Given the description of an element on the screen output the (x, y) to click on. 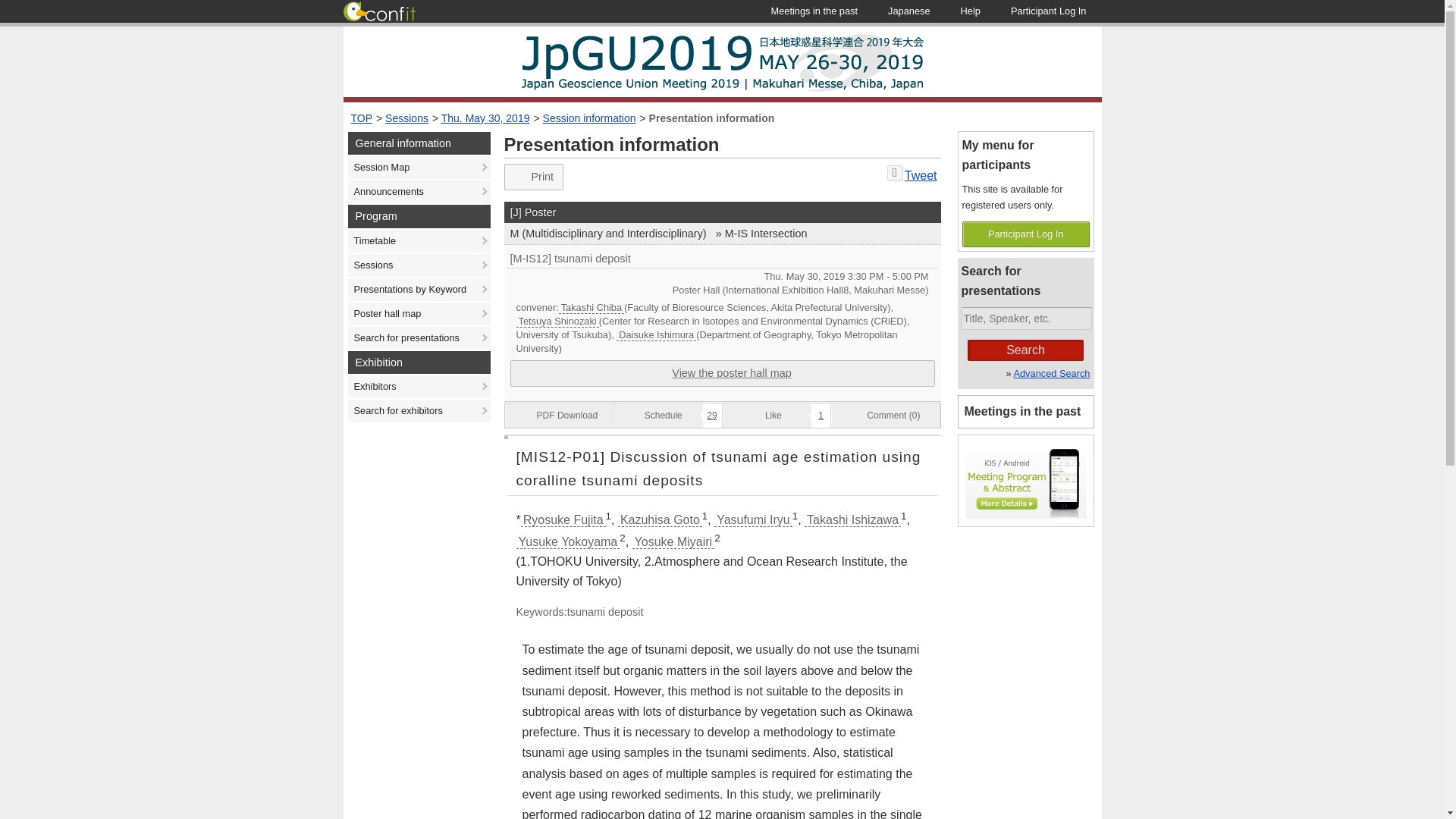
Presentation information (711, 118)
Session information (589, 118)
Yusuke Yokoyama (567, 541)
Kazuhisa Goto (659, 519)
Search for presentations (418, 337)
Tweet (920, 174)
Search for exhibitors (418, 410)
Add to or remove from my schedule (667, 415)
Share by mail (894, 172)
TOP (361, 118)
Exhibitors (418, 386)
Schedule (512, 436)
PDF Download (559, 415)
Daisuke Ishimura (655, 334)
Schedule (846, 276)
